Given the description of an element on the screen output the (x, y) to click on. 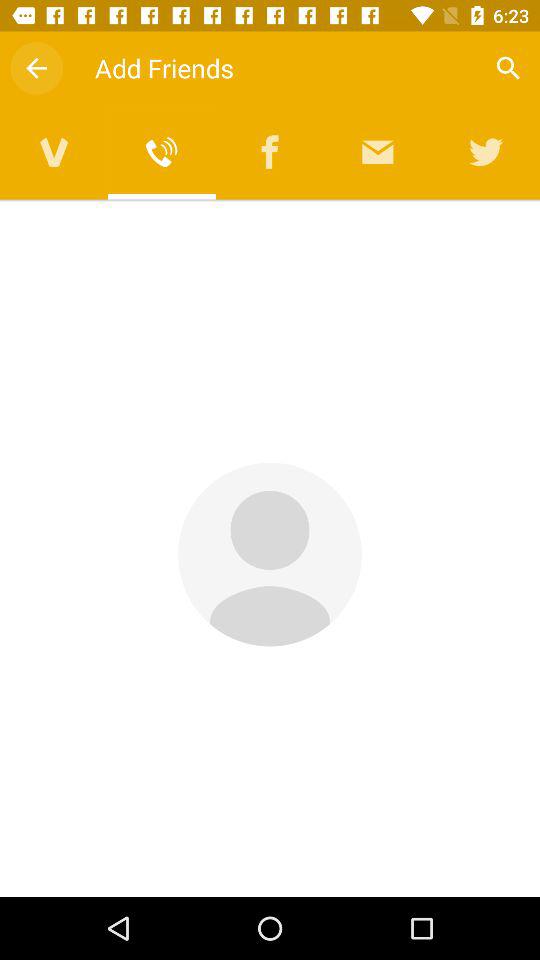
open facebook (270, 152)
